Given the description of an element on the screen output the (x, y) to click on. 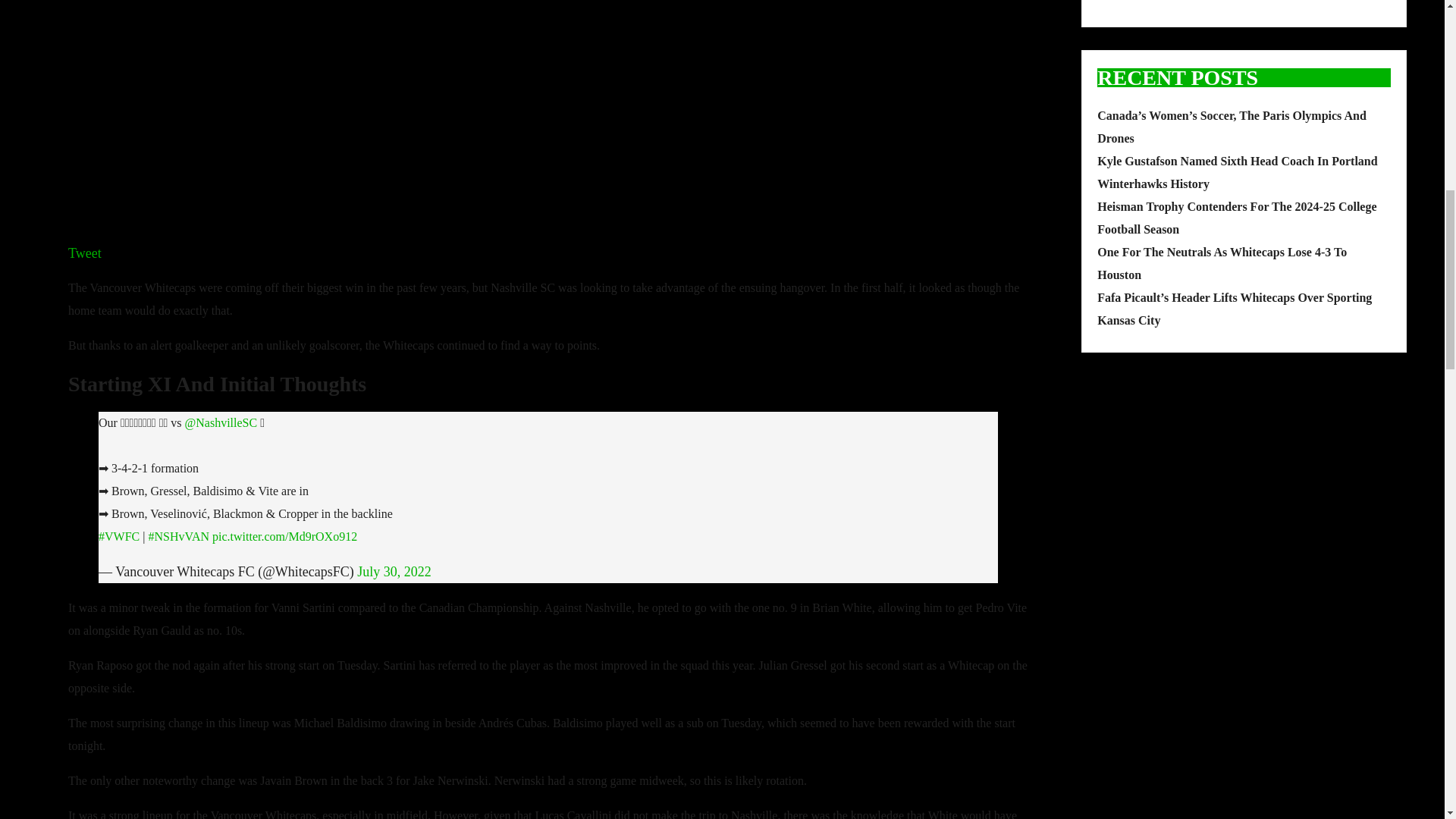
July 30, 2022 (393, 571)
Tweet (84, 253)
